Given the description of an element on the screen output the (x, y) to click on. 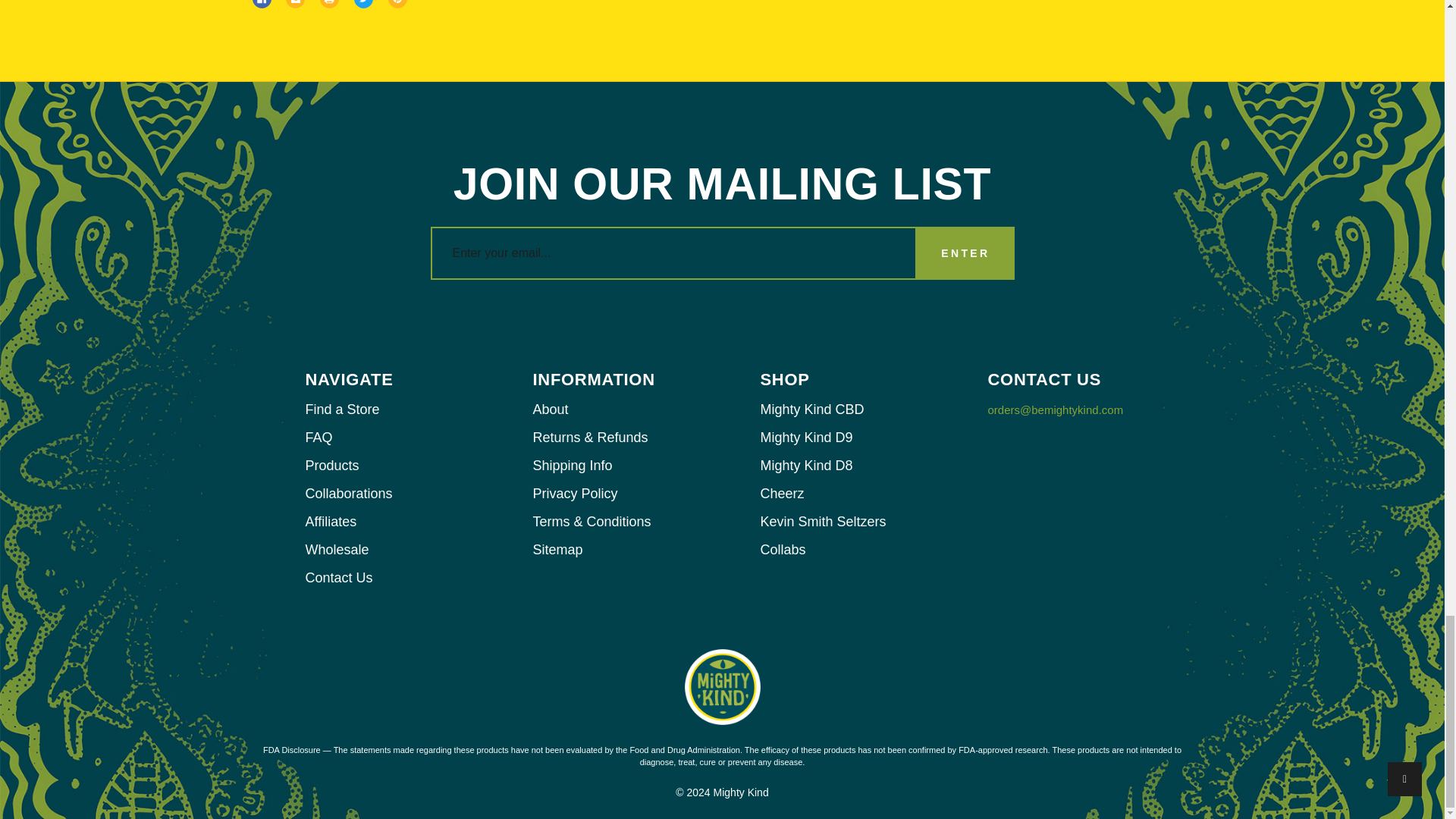
Twitter (362, 4)
asd (260, 4)
Enter (965, 253)
Pinterest (397, 4)
Facebook (260, 4)
Email (294, 4)
Print (329, 4)
